Given the description of an element on the screen output the (x, y) to click on. 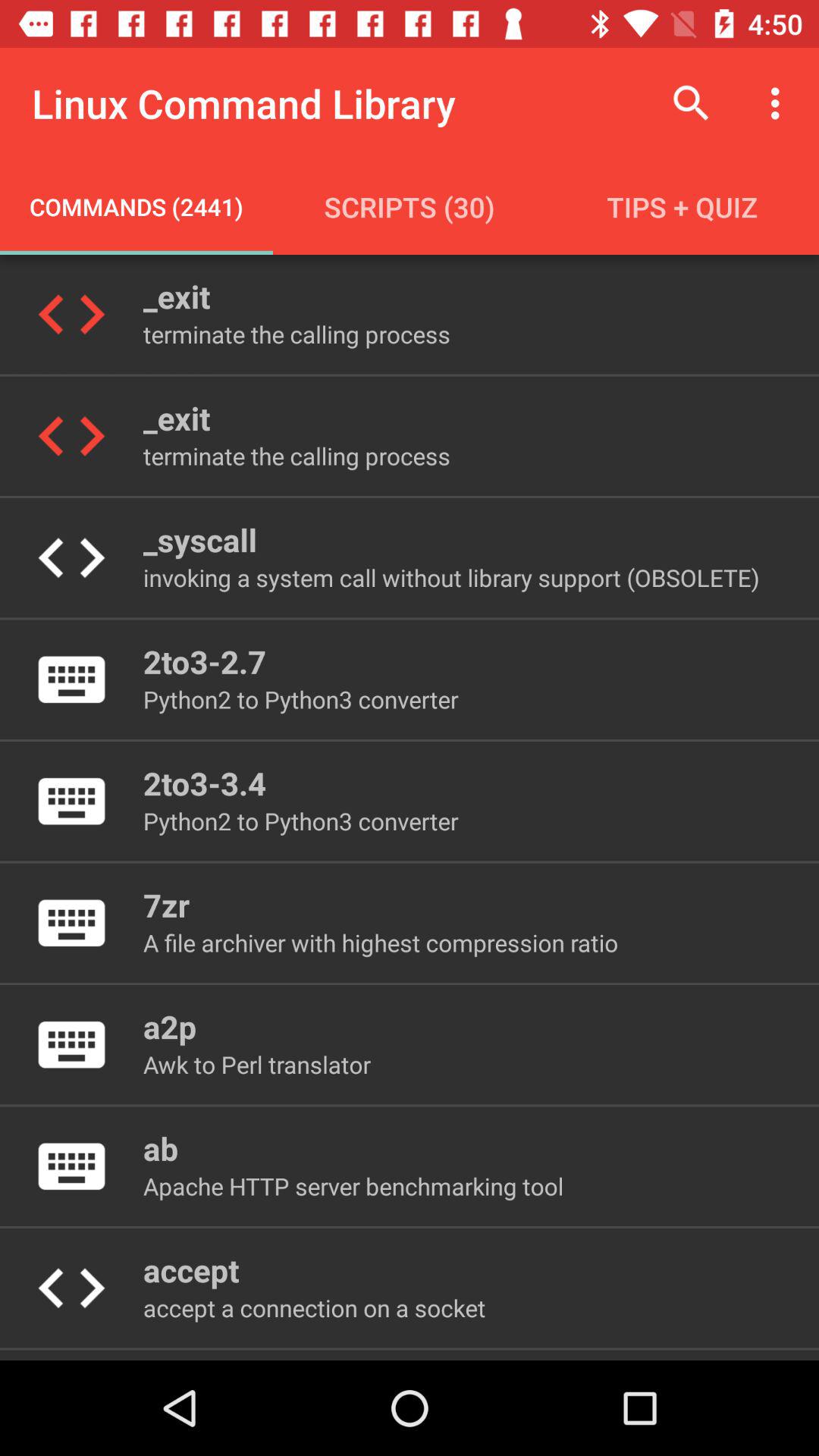
select item below the terminate the calling icon (200, 539)
